Given the description of an element on the screen output the (x, y) to click on. 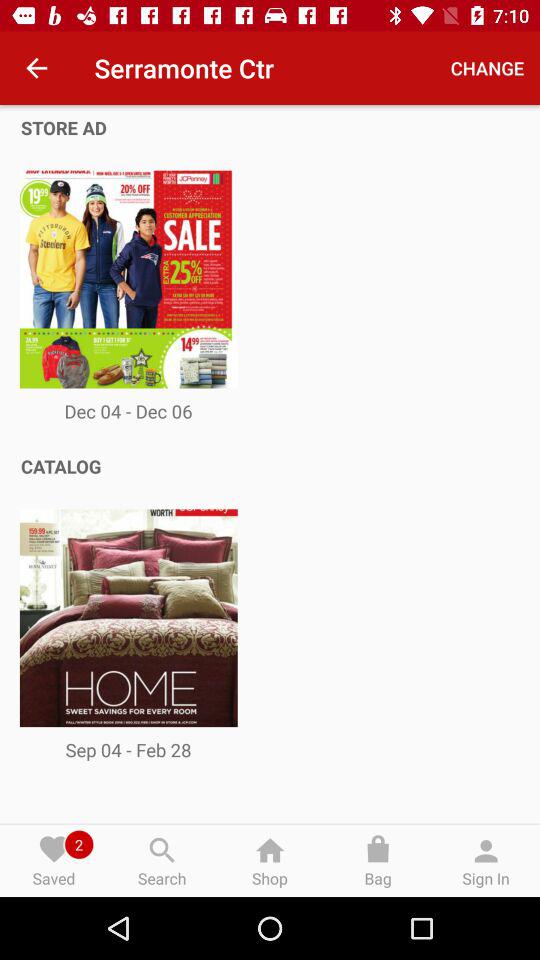
press the item next to the serramonte ctr item (36, 68)
